Given the description of an element on the screen output the (x, y) to click on. 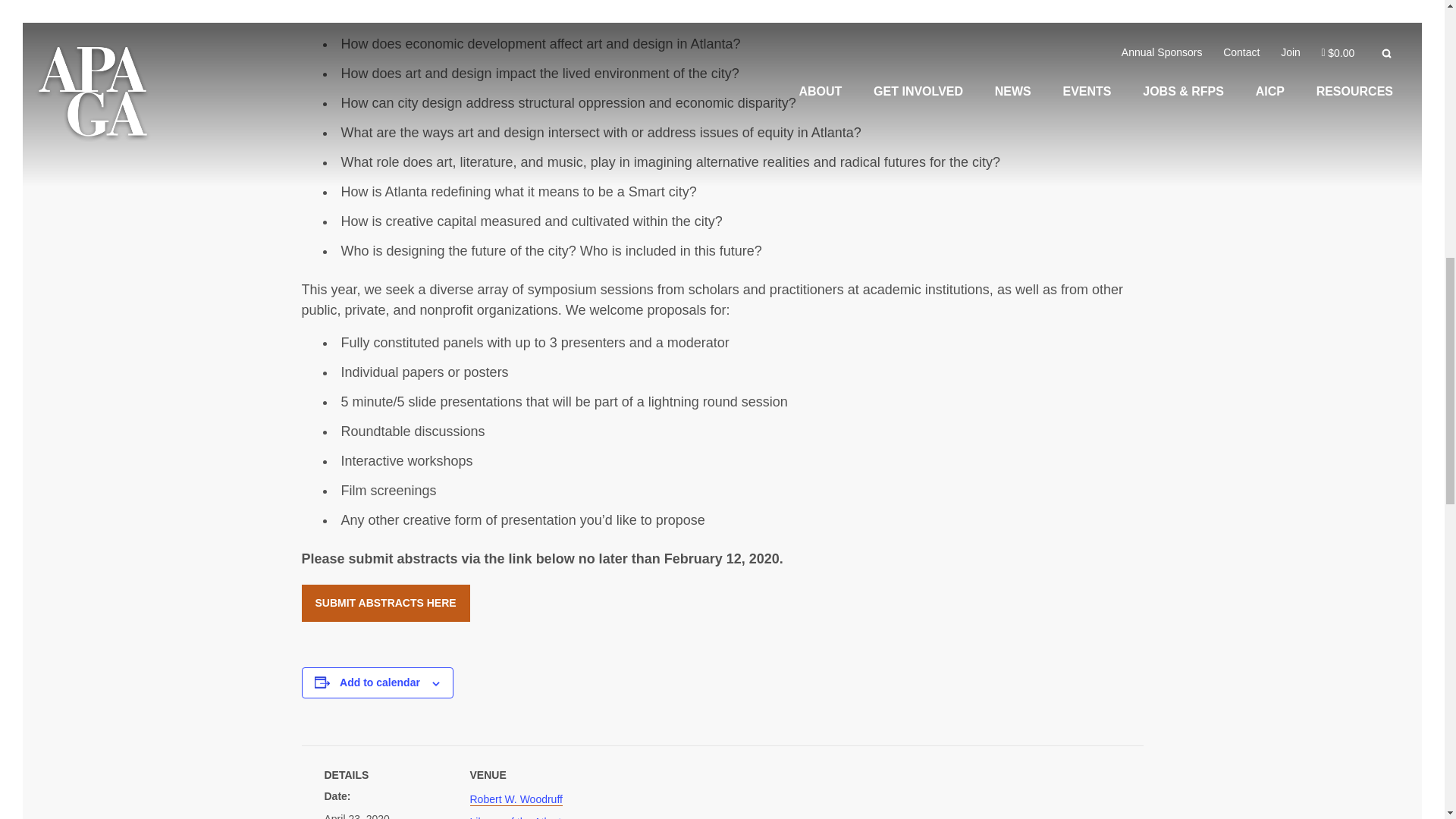
2020-04-23 (357, 816)
